Given the description of an element on the screen output the (x, y) to click on. 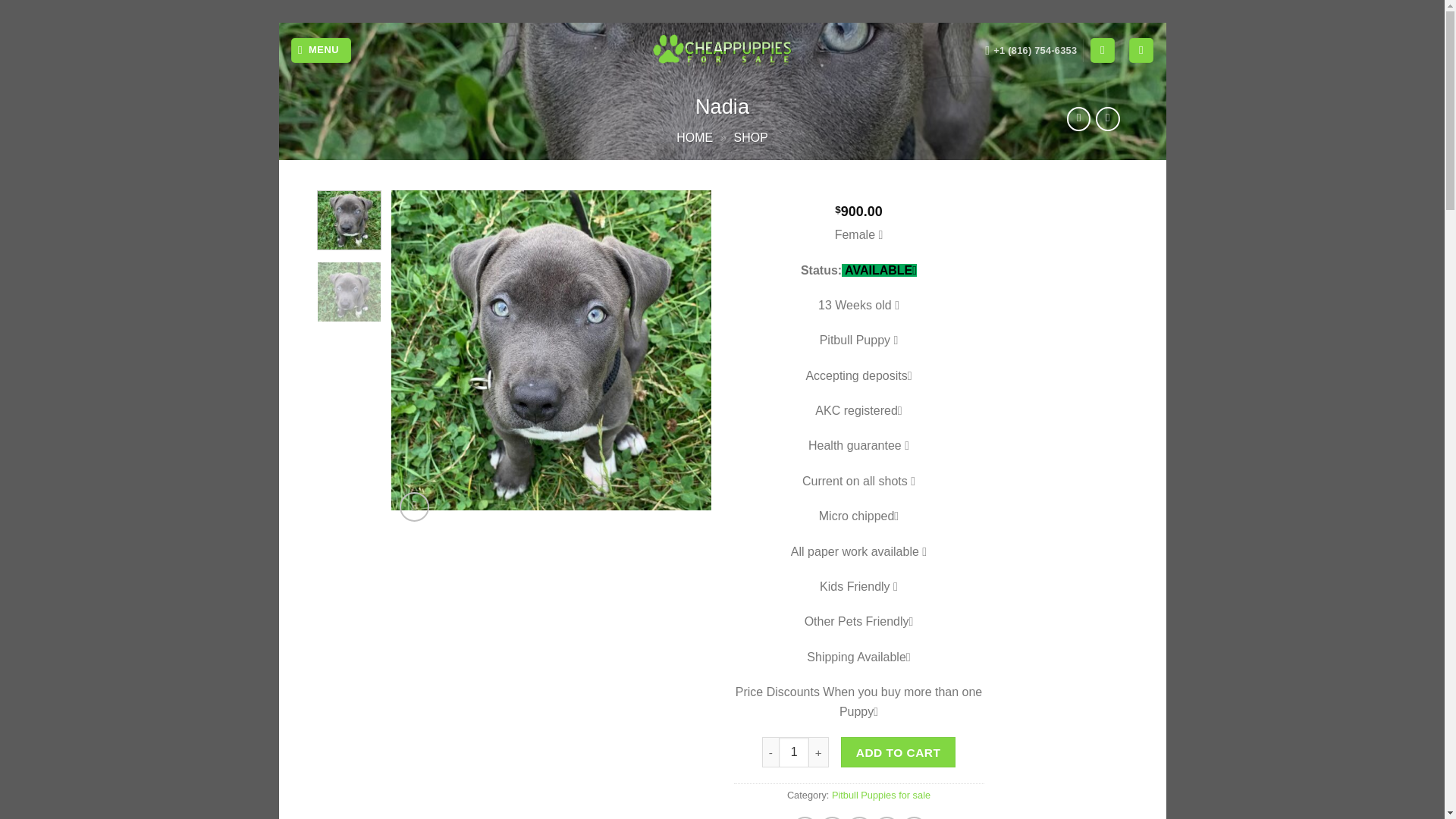
Email to a Friend (859, 817)
Share on Facebook (804, 817)
SHOP (750, 137)
Zoom (413, 506)
Share on Twitter (831, 817)
MENU (320, 50)
HOME (695, 137)
1 (793, 752)
